Given the description of an element on the screen output the (x, y) to click on. 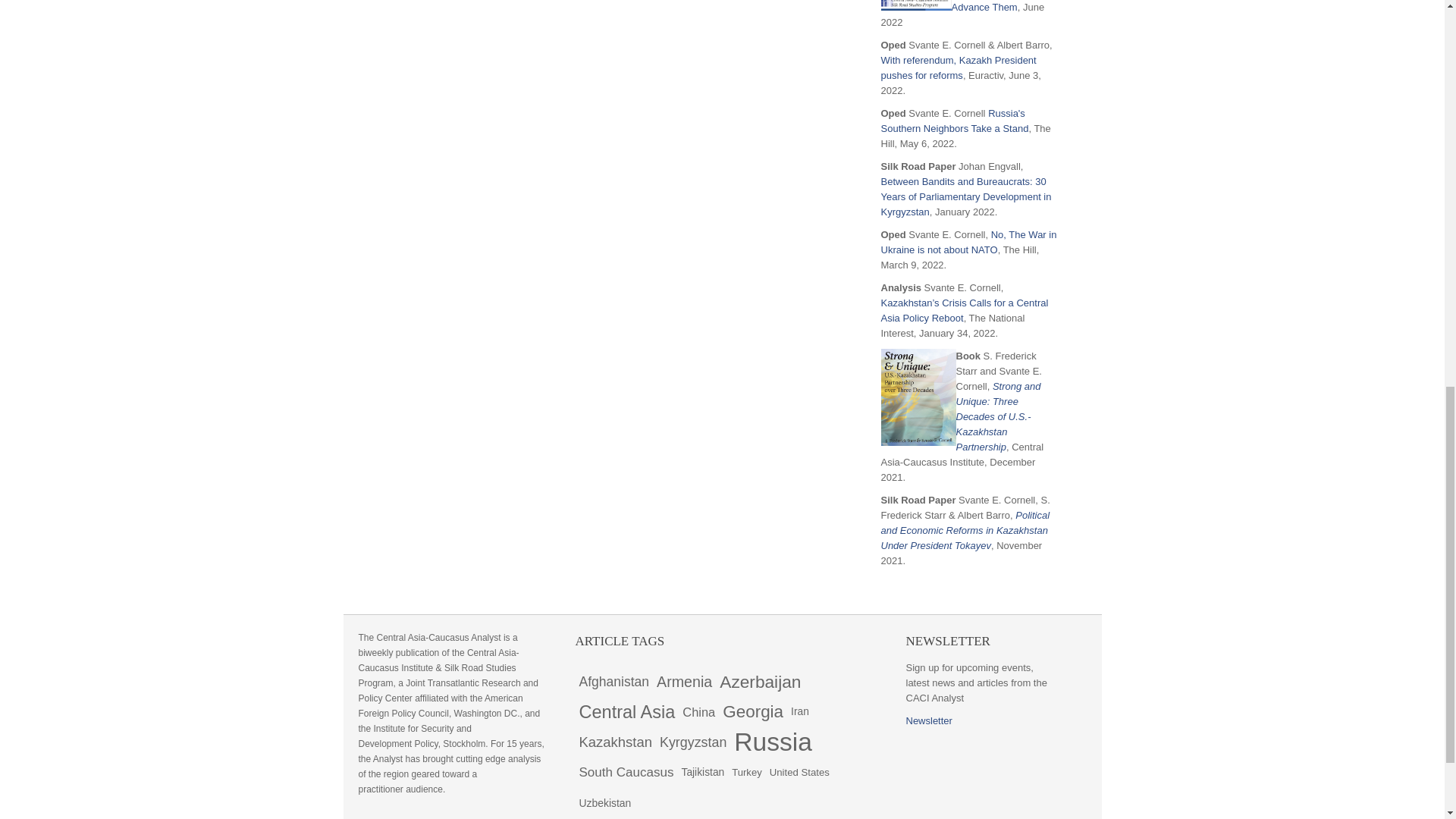
No, The War in Ukraine is not about NATO (968, 242)
Afghanistan (613, 681)
109 items tagged with South Caucasus (626, 772)
114 items tagged with Afghanistan (613, 681)
303 items tagged with Russia (772, 742)
125 items tagged with Kazakhstan (615, 742)
Russia's Southern Neighbors Take a Stand (954, 120)
184 items tagged with Central Asia (626, 711)
62 items tagged with Turkey (746, 772)
118 items tagged with Kyrgyzstan (693, 742)
72 items tagged with Uzbekistan (604, 802)
171 items tagged with Georgia (753, 711)
